Given the description of an element on the screen output the (x, y) to click on. 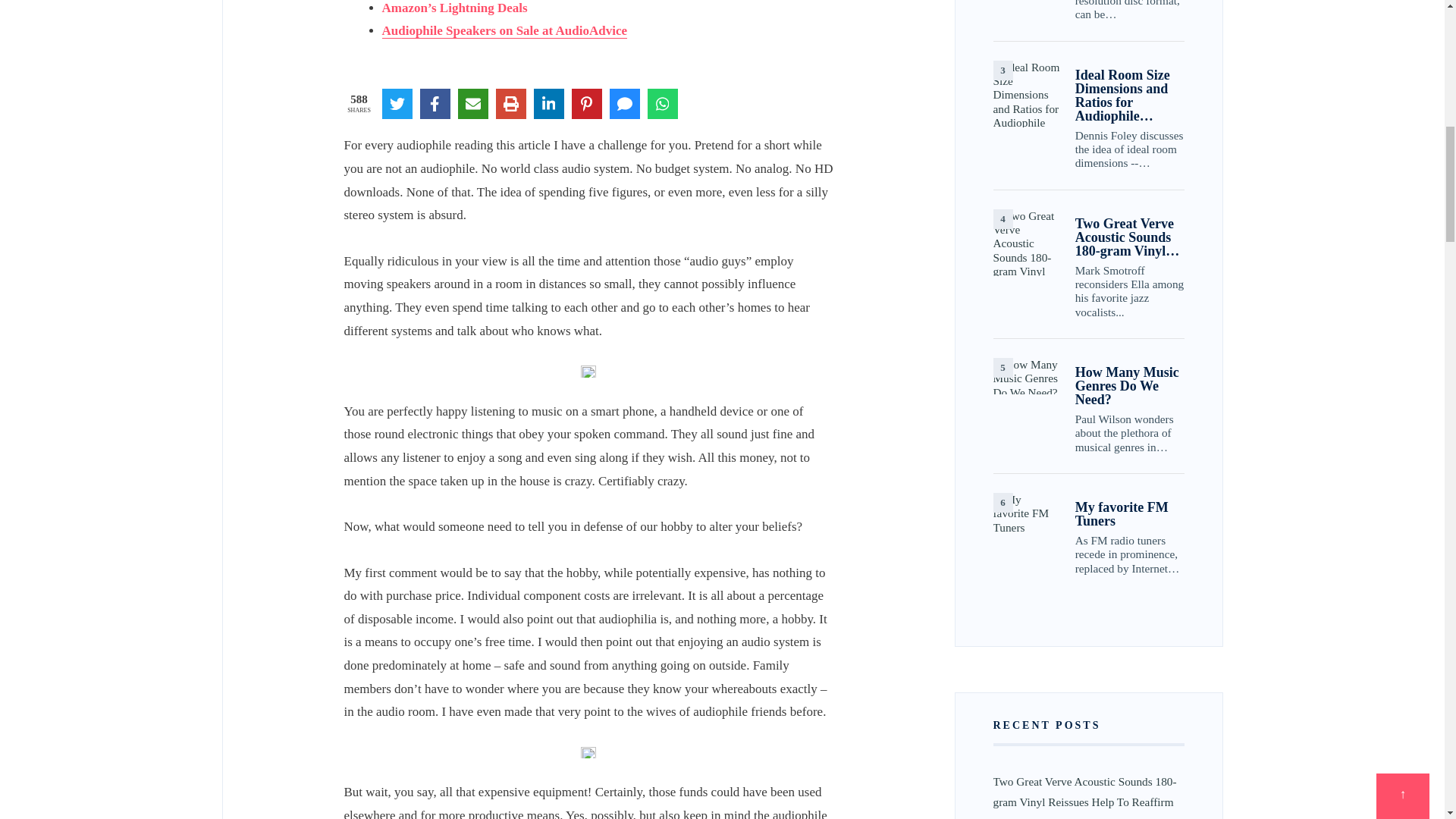
Audiophile Speakers on Sale at AudioAdvice (504, 30)
My favorite FM Tuners (1025, 526)
Scroll to top (1402, 1)
How Many Music Genres Do We Need? (1025, 375)
